Given the description of an element on the screen output the (x, y) to click on. 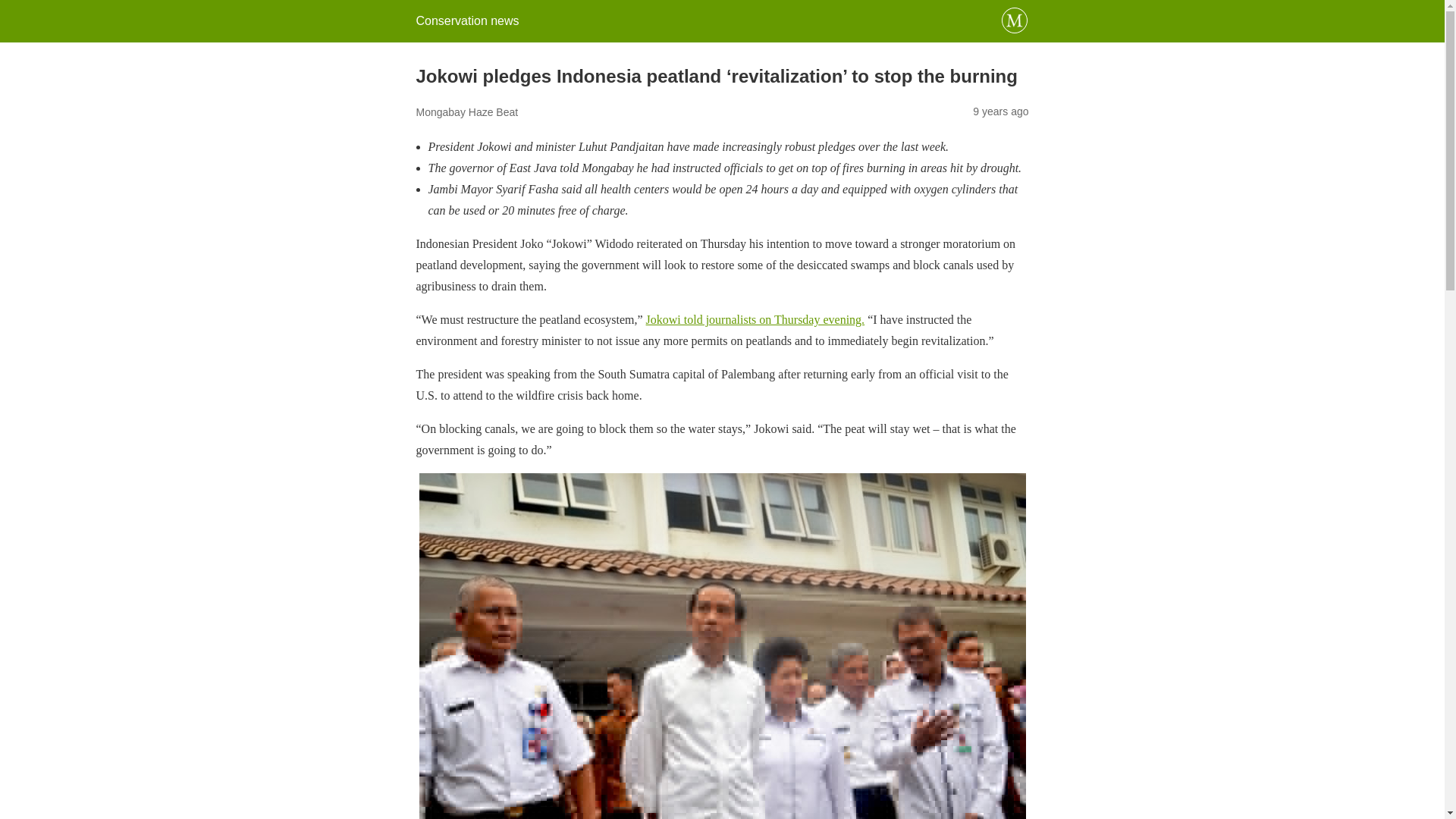
Jokowi told journalists on Thursday evening. (755, 318)
Conservation news (466, 20)
